Given the description of an element on the screen output the (x, y) to click on. 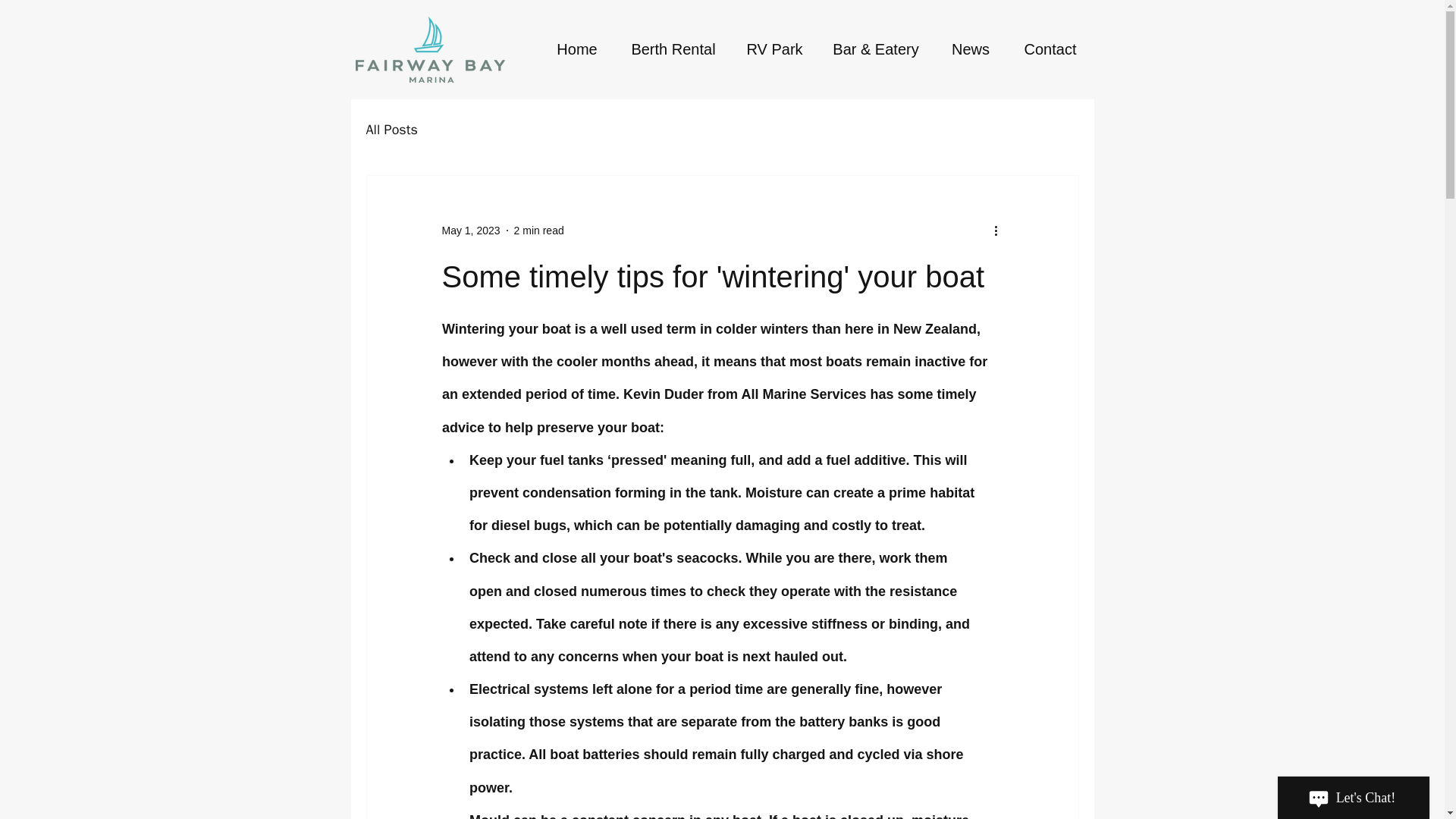
Contact (1050, 48)
2 min read (538, 230)
All Posts (390, 129)
Home (577, 48)
News (970, 48)
RV Park (774, 48)
Berth Rental (673, 48)
May 1, 2023 (470, 230)
